Given the description of an element on the screen output the (x, y) to click on. 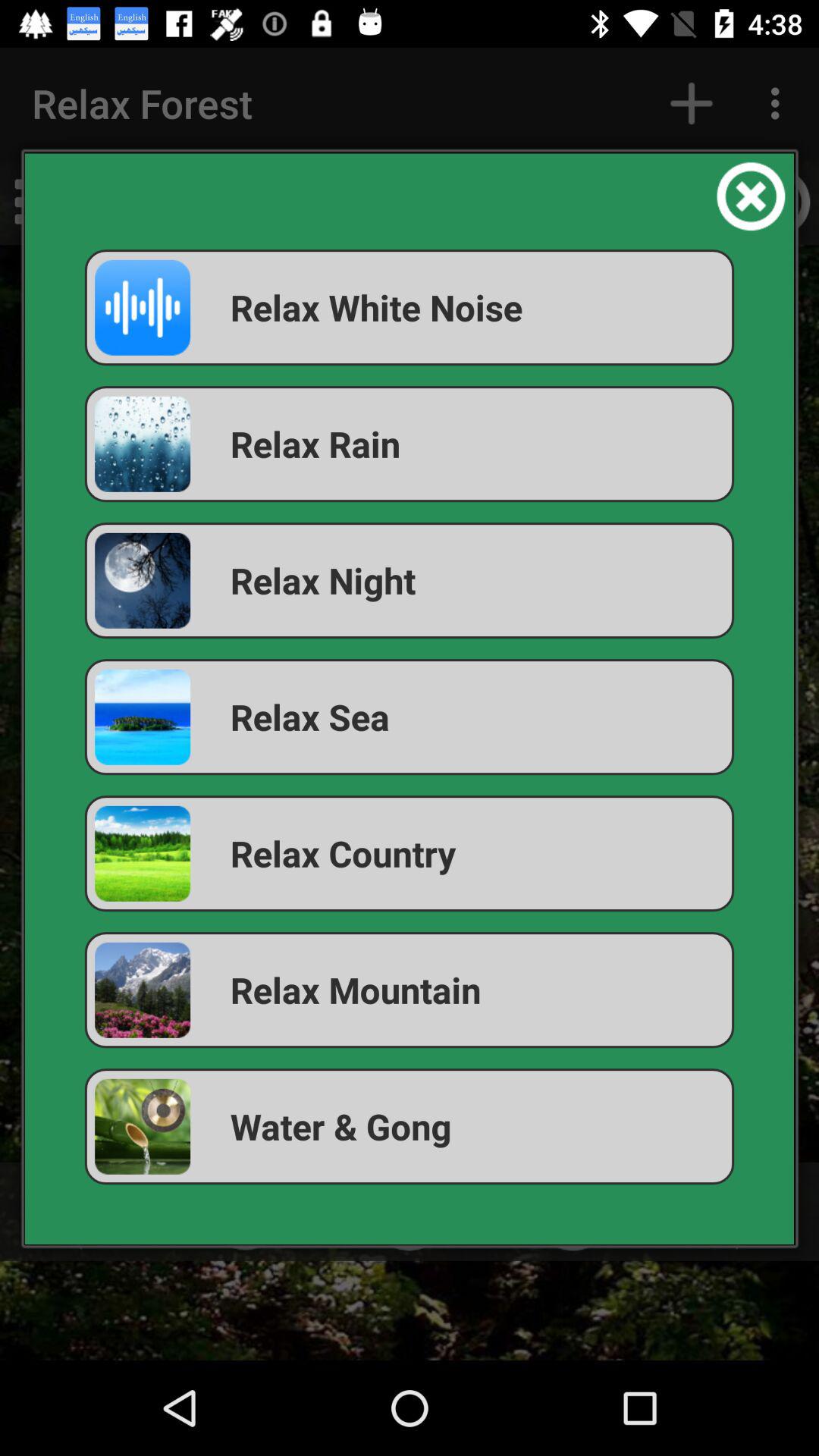
flip to relax country icon (409, 853)
